Given the description of an element on the screen output the (x, y) to click on. 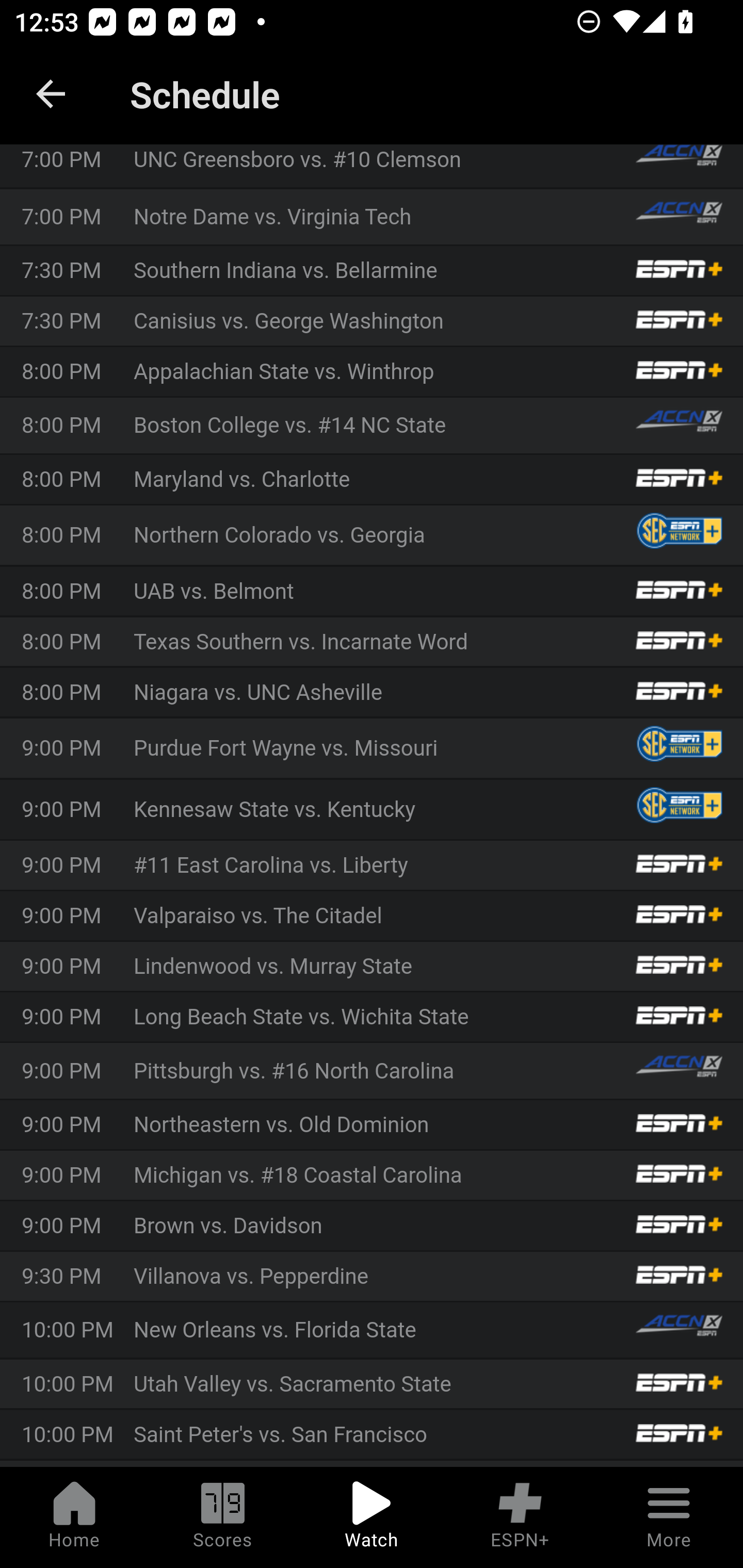
back.button (50, 93)
Home (74, 1517)
Scores (222, 1517)
ESPN+ (519, 1517)
More (668, 1517)
